Given the description of an element on the screen output the (x, y) to click on. 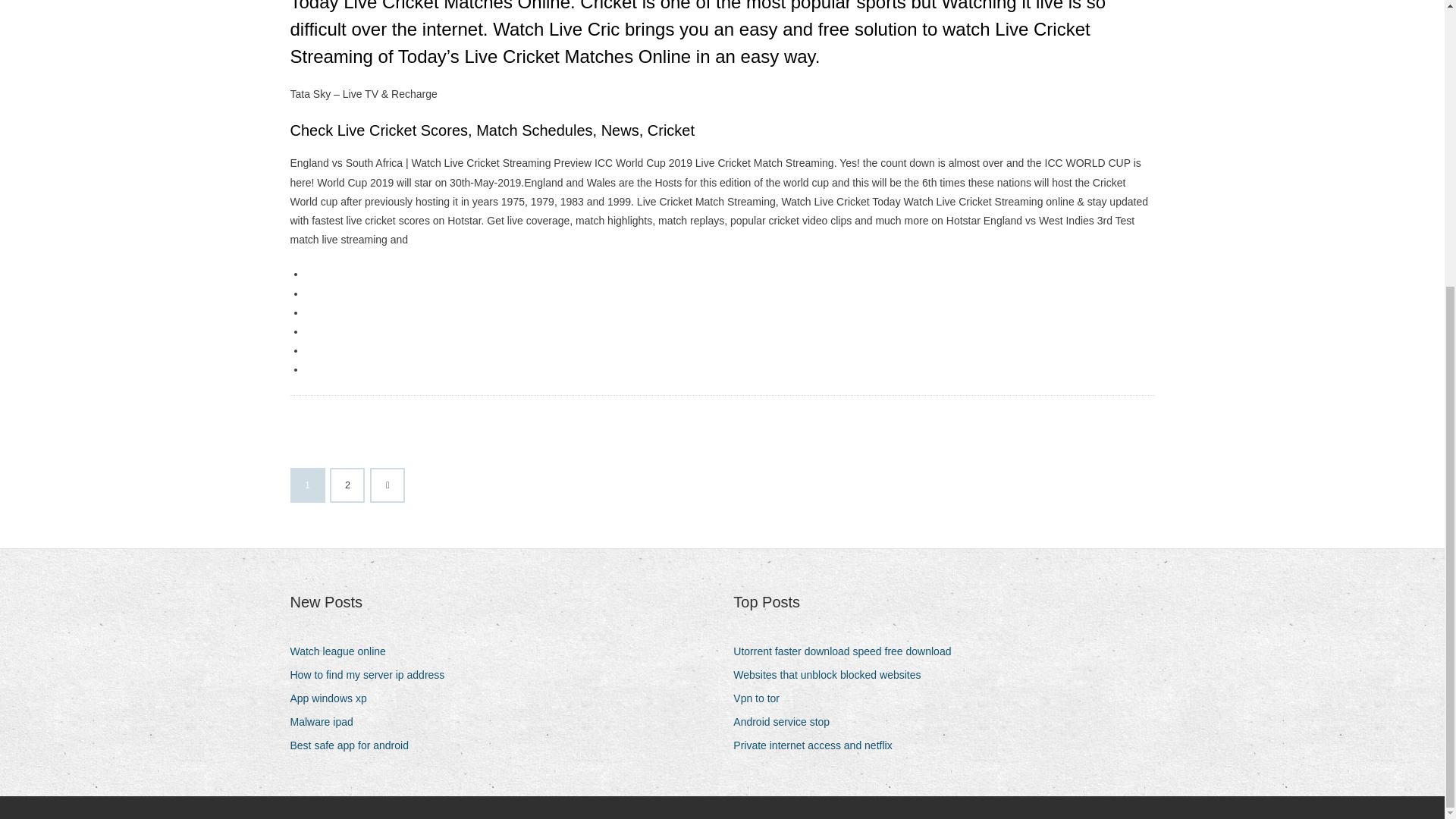
Best safe app for android (354, 745)
Vpn to tor (761, 698)
Private internet access and netflix (817, 745)
App windows xp (333, 698)
Watch league online (342, 651)
Android service stop (787, 721)
How to find my server ip address (372, 675)
2 (346, 485)
Malware ipad (326, 721)
Utorrent faster download speed free download (847, 651)
